Given the description of an element on the screen output the (x, y) to click on. 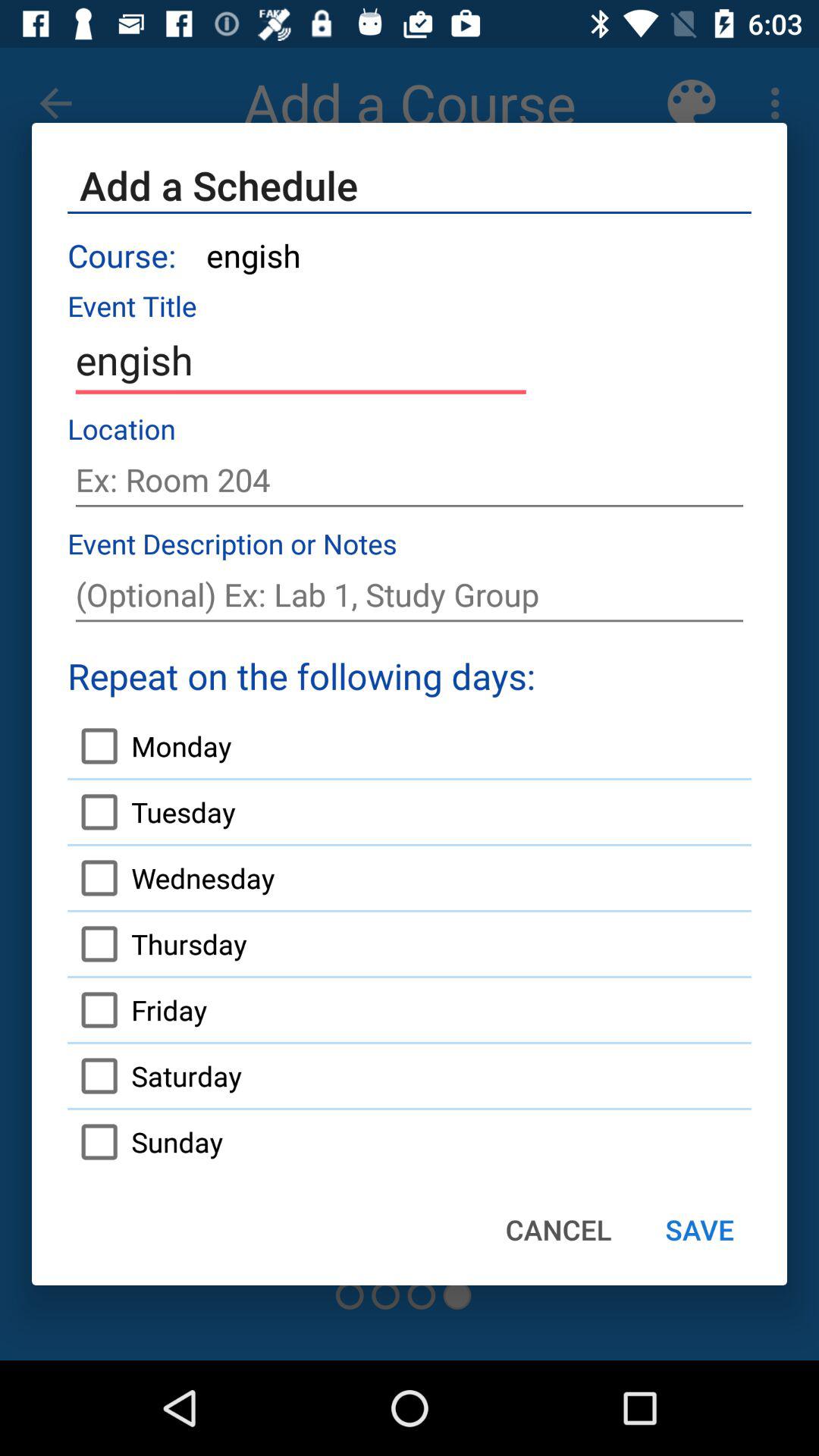
enter notes (409, 594)
